Given the description of an element on the screen output the (x, y) to click on. 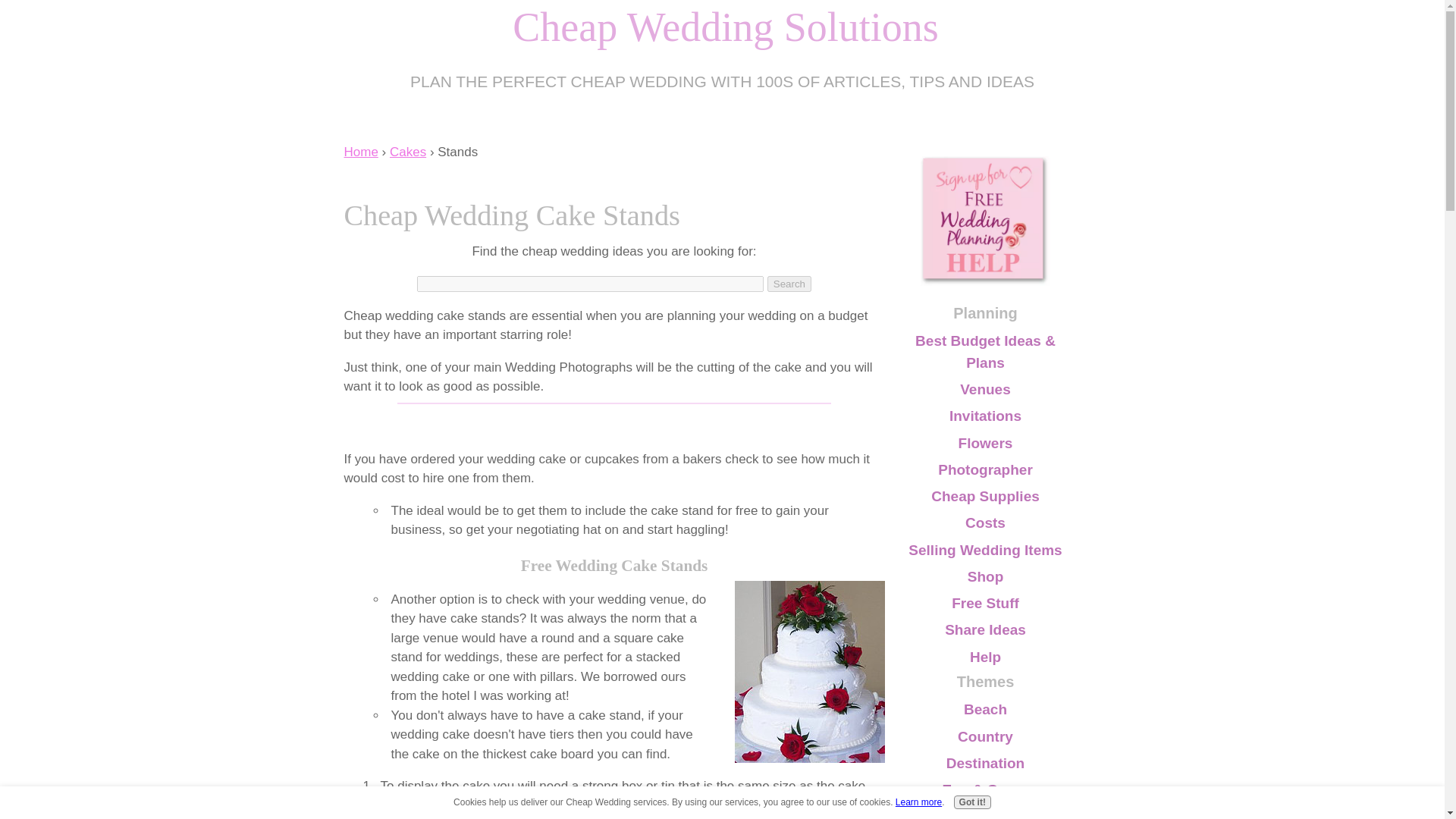
Venues (984, 389)
Go to Wedding Planning In 7 Weeks (984, 281)
free wedding planning (984, 220)
Selling Wedding Items (984, 549)
Search (788, 283)
Cakes (408, 151)
Photographer (984, 470)
Help (984, 656)
Fall (984, 811)
Costs (984, 523)
Share Ideas (984, 630)
Home (360, 151)
Beach (984, 709)
Shop (984, 576)
Flowers (984, 442)
